Given the description of an element on the screen output the (x, y) to click on. 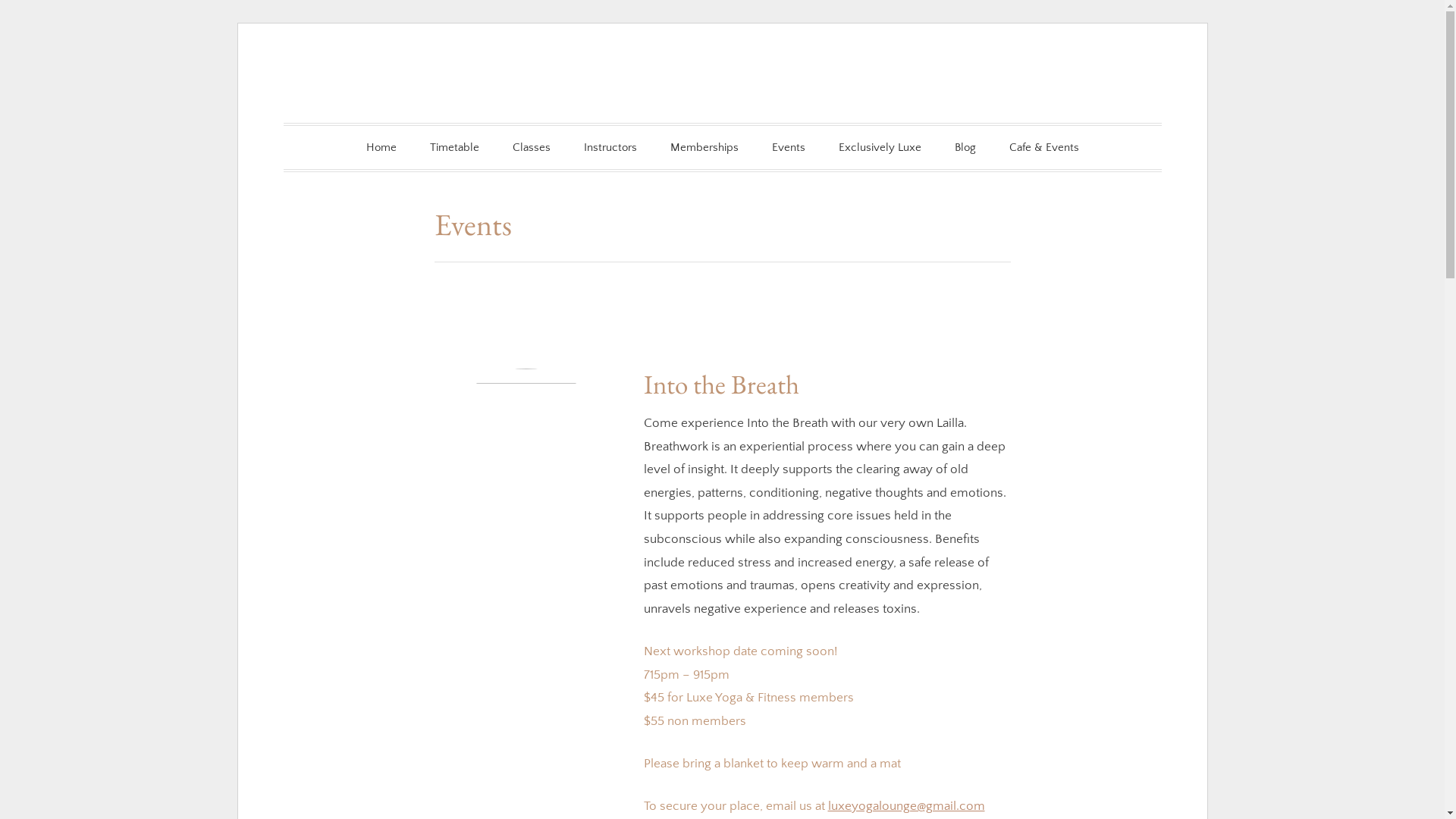
Timetable Element type: text (453, 147)
Instructors Element type: text (610, 147)
luxeyogalounge@gmail.com Element type: text (906, 805)
Classes Element type: text (531, 147)
Memberships Element type: text (704, 147)
Blog Element type: text (964, 147)
Home Element type: text (380, 147)
Events Element type: text (788, 147)
Luxe Yoga and Fitness Element type: text (521, 123)
Cafe & Events Element type: text (1043, 147)
Exclusively Luxe Element type: text (879, 147)
